Given the description of an element on the screen output the (x, y) to click on. 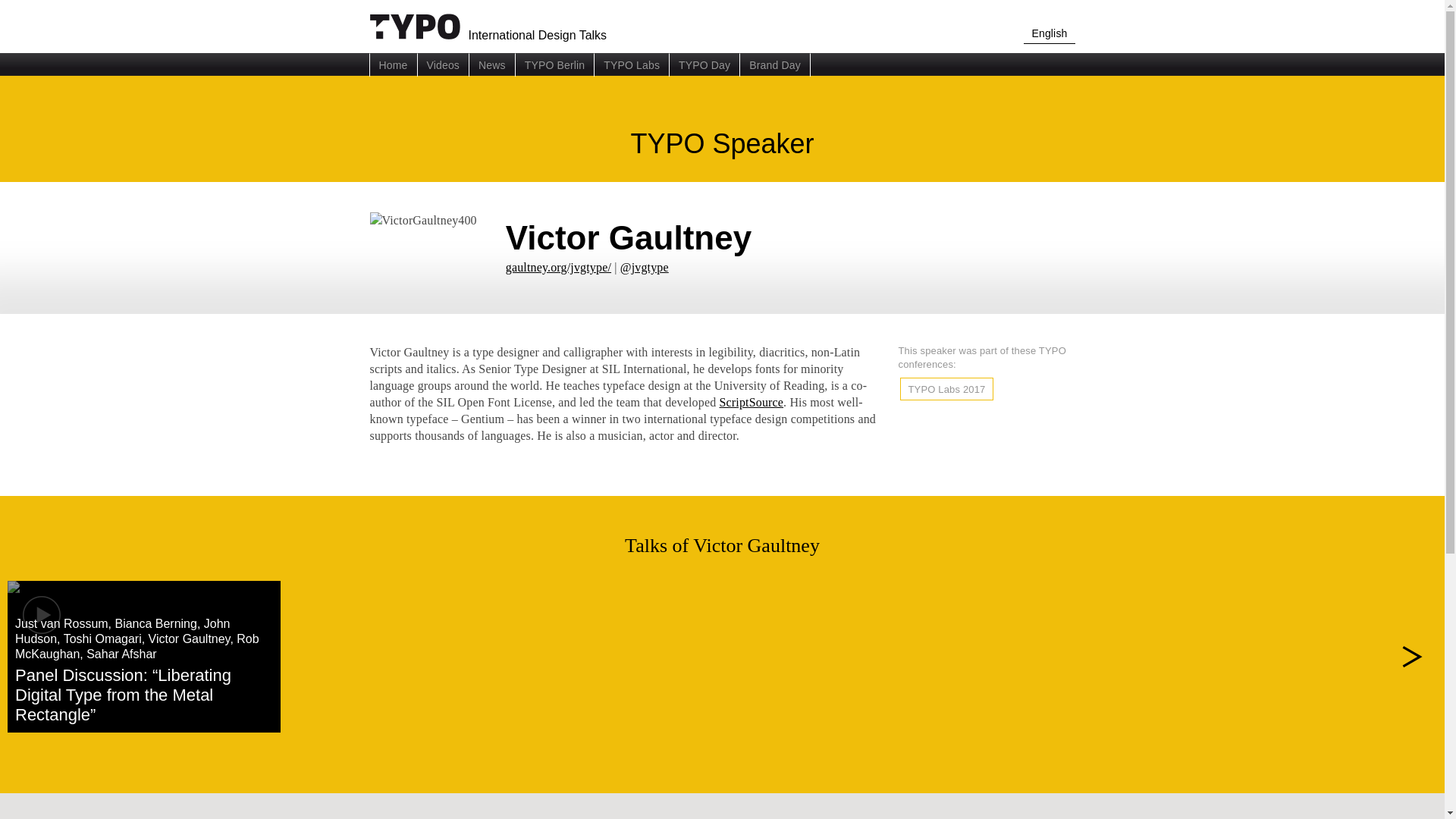
TYPO Berlin (555, 64)
ScriptSource (751, 401)
News (491, 64)
TYPO Labs (631, 64)
TYPO Day (703, 64)
Home (392, 64)
Brand Day (774, 64)
 English (1048, 35)
Videos (443, 64)
TYPO Labs 2017 (946, 389)
